Given the description of an element on the screen output the (x, y) to click on. 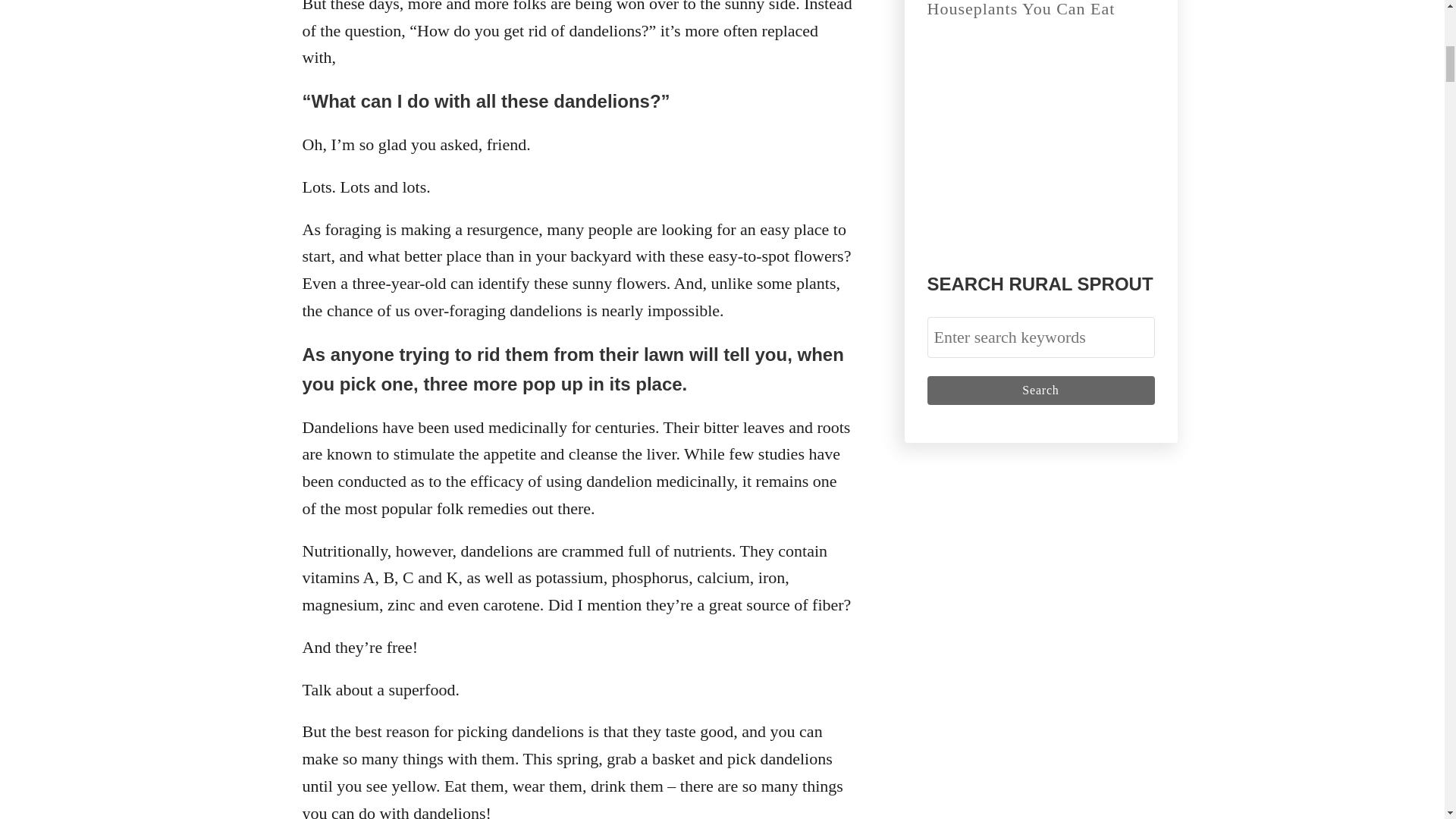
Search for: (1040, 336)
Search (1040, 389)
Search (1040, 389)
